Given the description of an element on the screen output the (x, y) to click on. 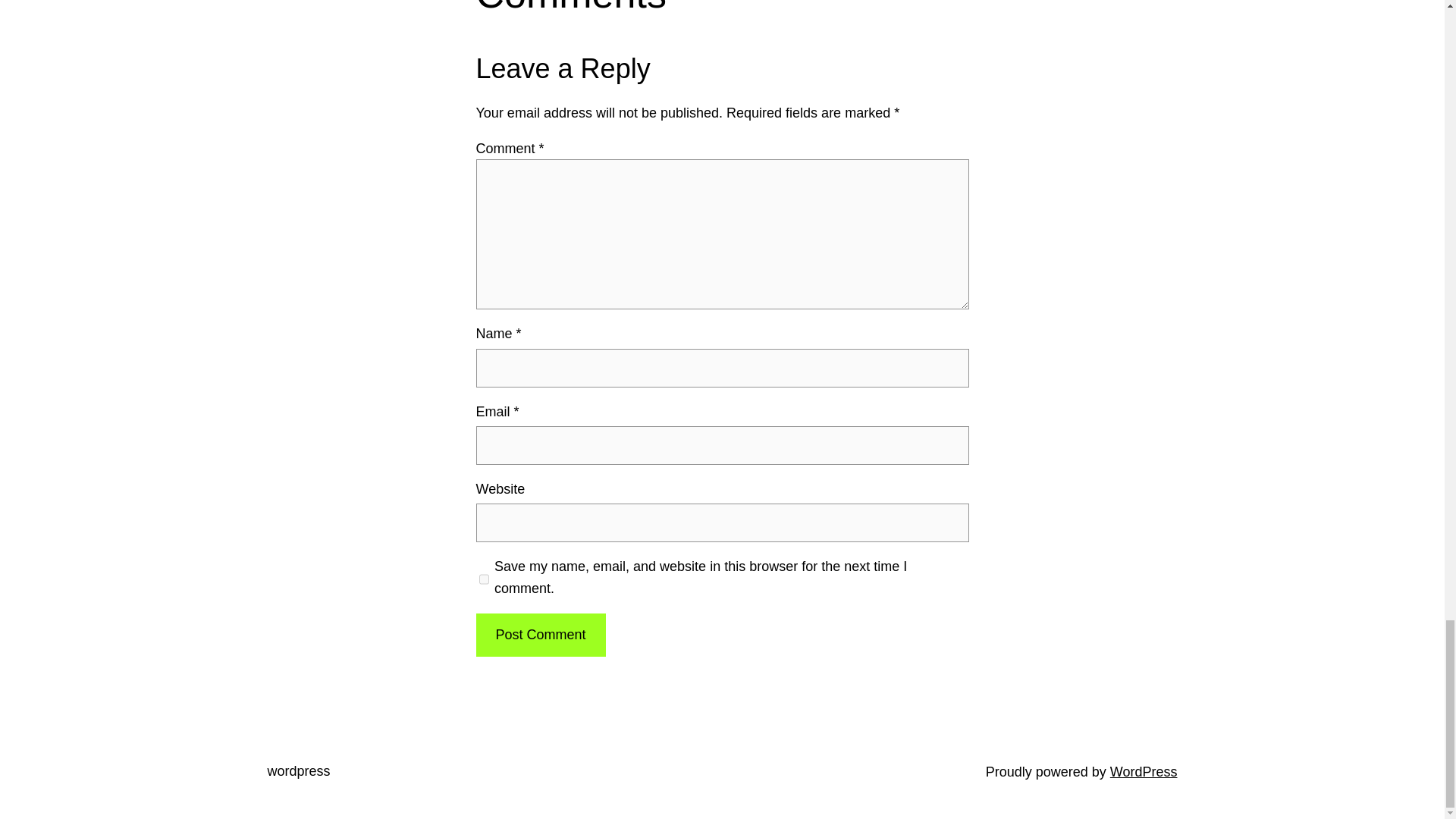
Post Comment (540, 634)
WordPress (1143, 771)
wordpress (298, 770)
Post Comment (540, 634)
